Given the description of an element on the screen output the (x, y) to click on. 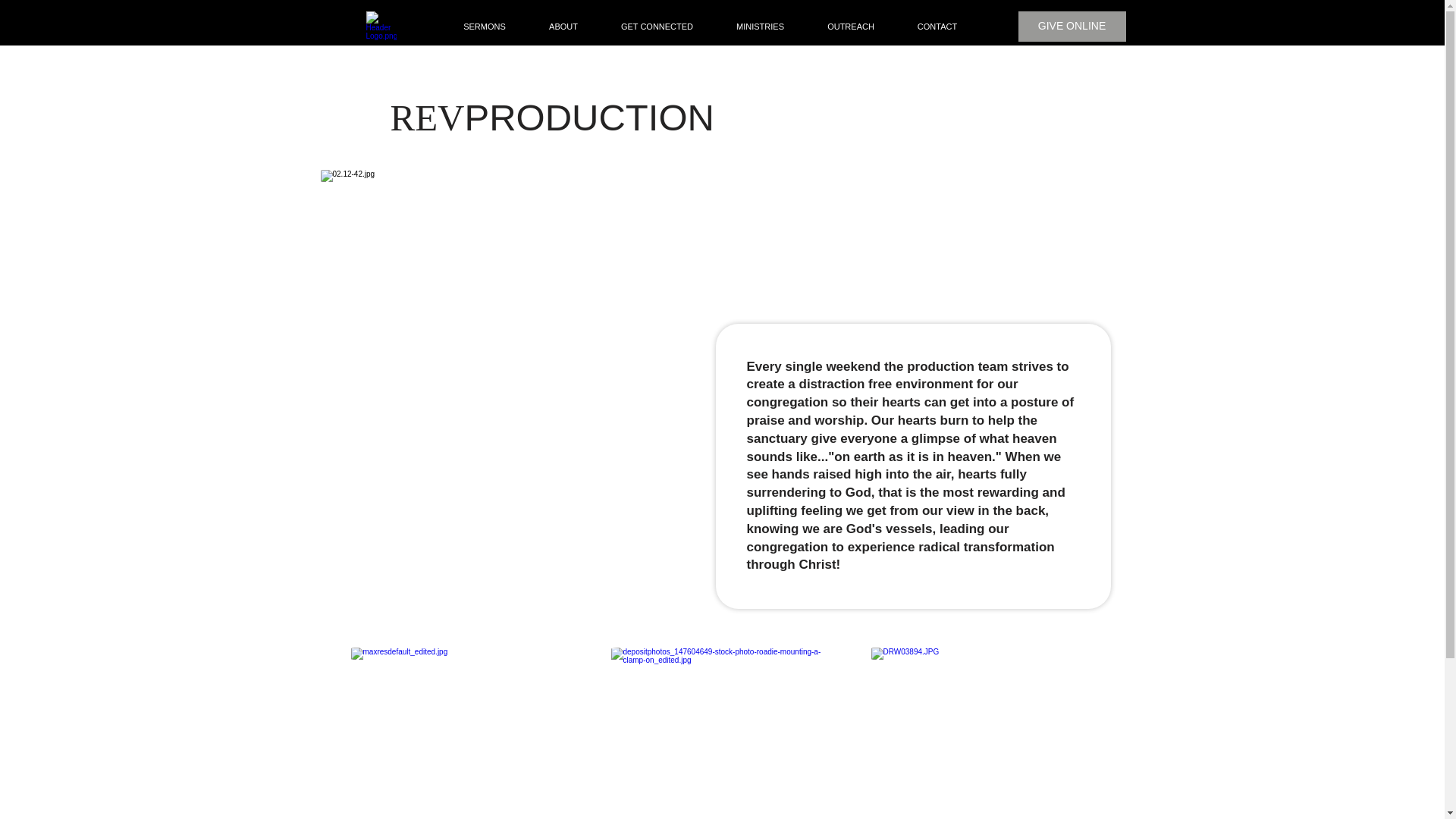
JC4A2505.jpg (459, 733)
CONTACT (937, 26)
JC4A2505.jpg (720, 733)
JC4A2505.jpg (979, 733)
SERMONS (484, 26)
ABOUT (563, 26)
GIVE ONLINE (1071, 26)
